Given the description of an element on the screen output the (x, y) to click on. 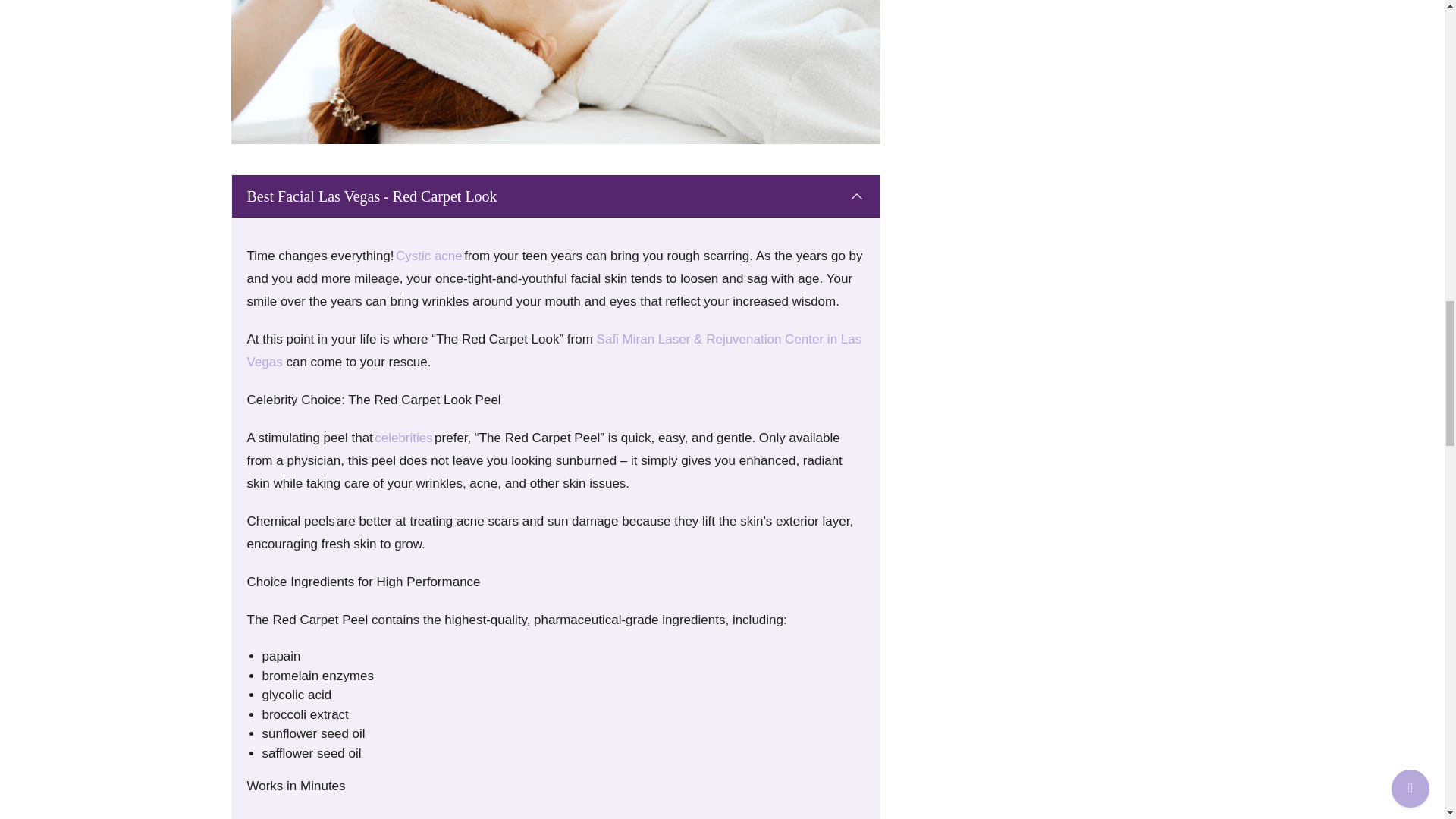
Cystic acne (429, 255)
Best Facial Las Vegas - Red Carpet Look (555, 196)
celebrities (403, 437)
